Given the description of an element on the screen output the (x, y) to click on. 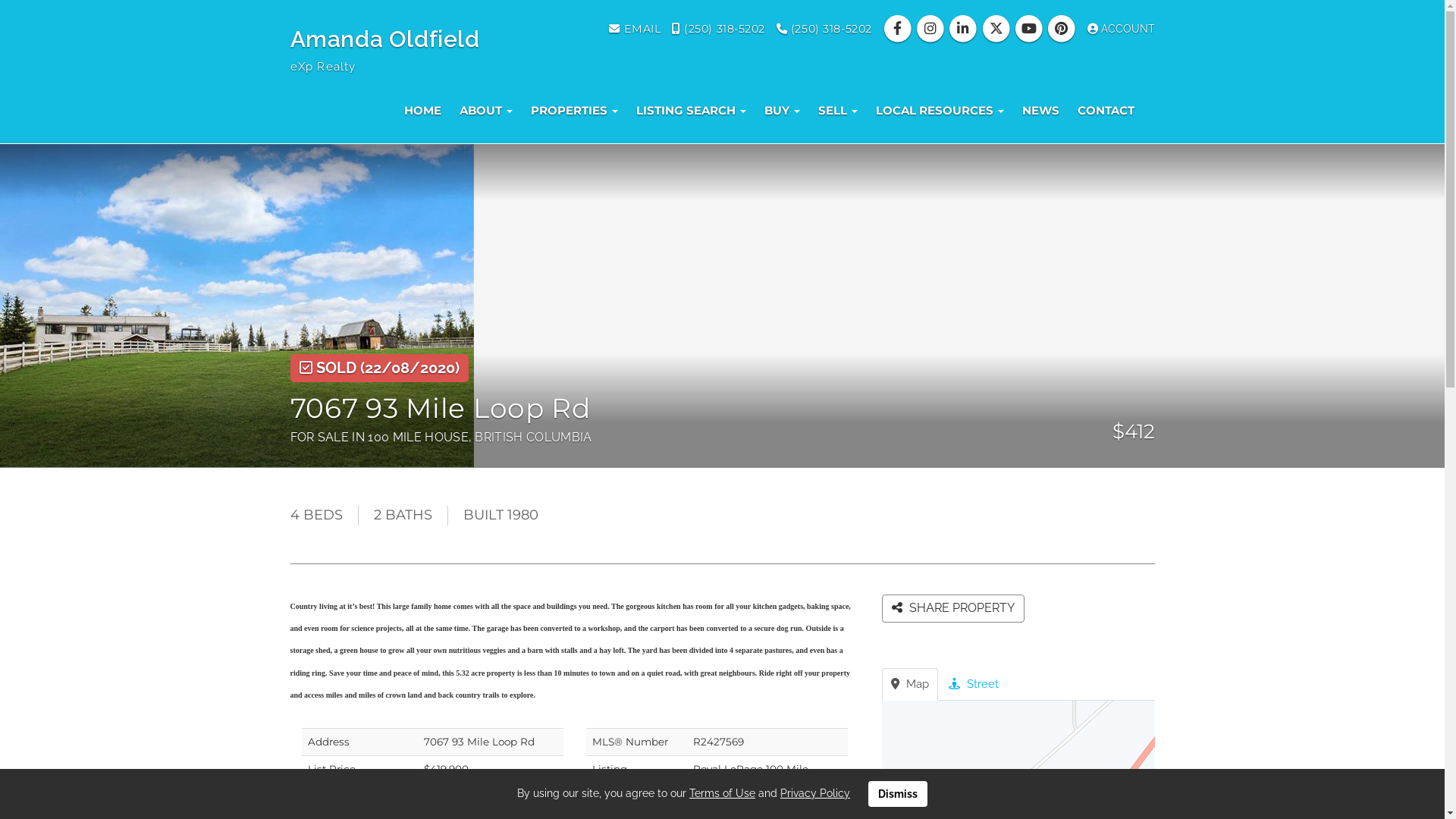
(250) 318-5202 Element type: text (824, 28)
PROPERTIES Element type: text (574, 110)
Dismiss Element type: text (897, 793)
LISTING SEARCH Element type: text (690, 110)
EMAIL Element type: text (634, 28)
Instagram Element type: hover (932, 28)
ACCOUNT Element type: text (1120, 28)
X (Twitter) Element type: hover (997, 28)
NEWS Element type: text (1040, 110)
Facebook Element type: hover (898, 28)
Map Element type: text (909, 684)
SHARE PROPERTY Element type: text (952, 608)
HOME Element type: text (421, 110)
Terms of Use Element type: text (722, 793)
(250) 318-5202 Element type: text (718, 28)
Pinterest Element type: hover (1062, 28)
ABOUT Element type: text (485, 110)
BUY Element type: text (782, 110)
Street Element type: text (972, 684)
Zoom in Element type: hover (1138, 801)
LOCAL RESOURCES Element type: text (939, 110)
YouTube Element type: hover (1029, 28)
CONTACT Element type: text (1104, 110)
SELL Element type: text (837, 110)
Privacy Policy Element type: text (815, 793)
LinkedIn Element type: hover (964, 28)
